Given the description of an element on the screen output the (x, y) to click on. 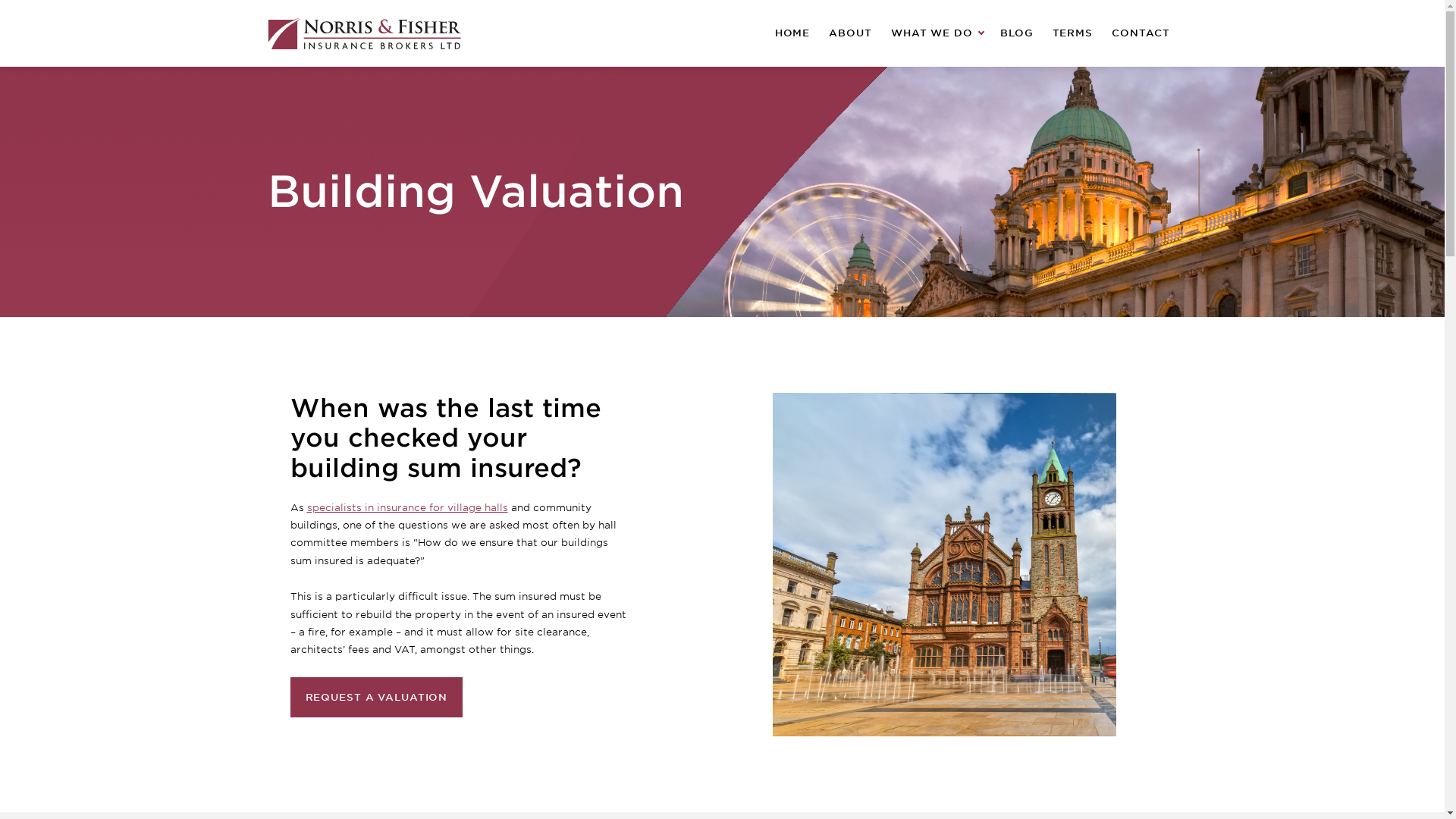
BLOG (1016, 32)
Norris and Fisher (363, 33)
specialists in insurance for village halls (405, 507)
ABOUT (850, 32)
WHAT WE DO (935, 32)
REQUEST A VALUATION (376, 697)
CONTACT (1139, 32)
TERMS (1072, 32)
HOME (792, 32)
